Given the description of an element on the screen output the (x, y) to click on. 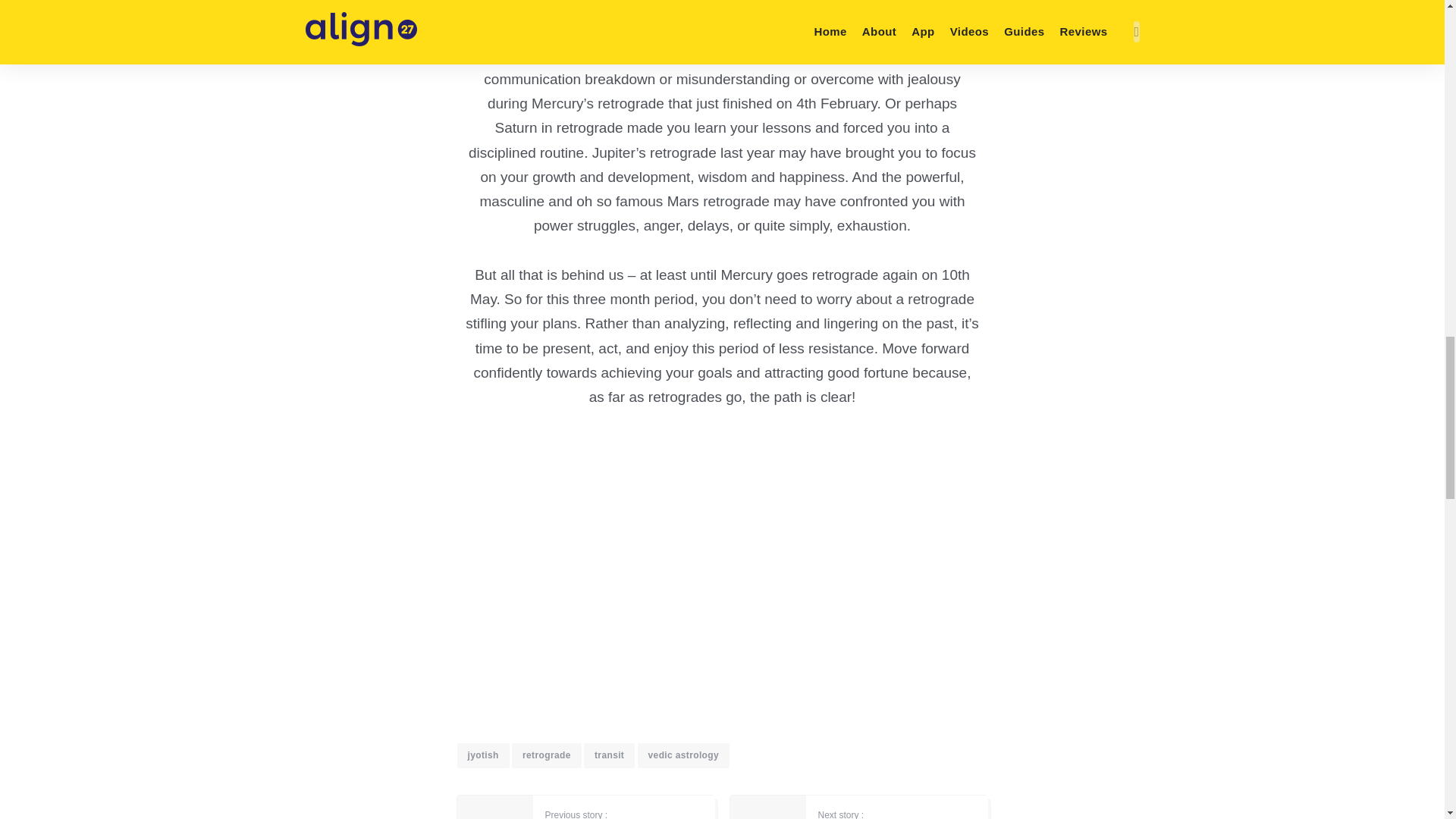
vedic astrology (683, 754)
jyotish (482, 754)
retrograde (546, 754)
transit (608, 754)
